Given the description of an element on the screen output the (x, y) to click on. 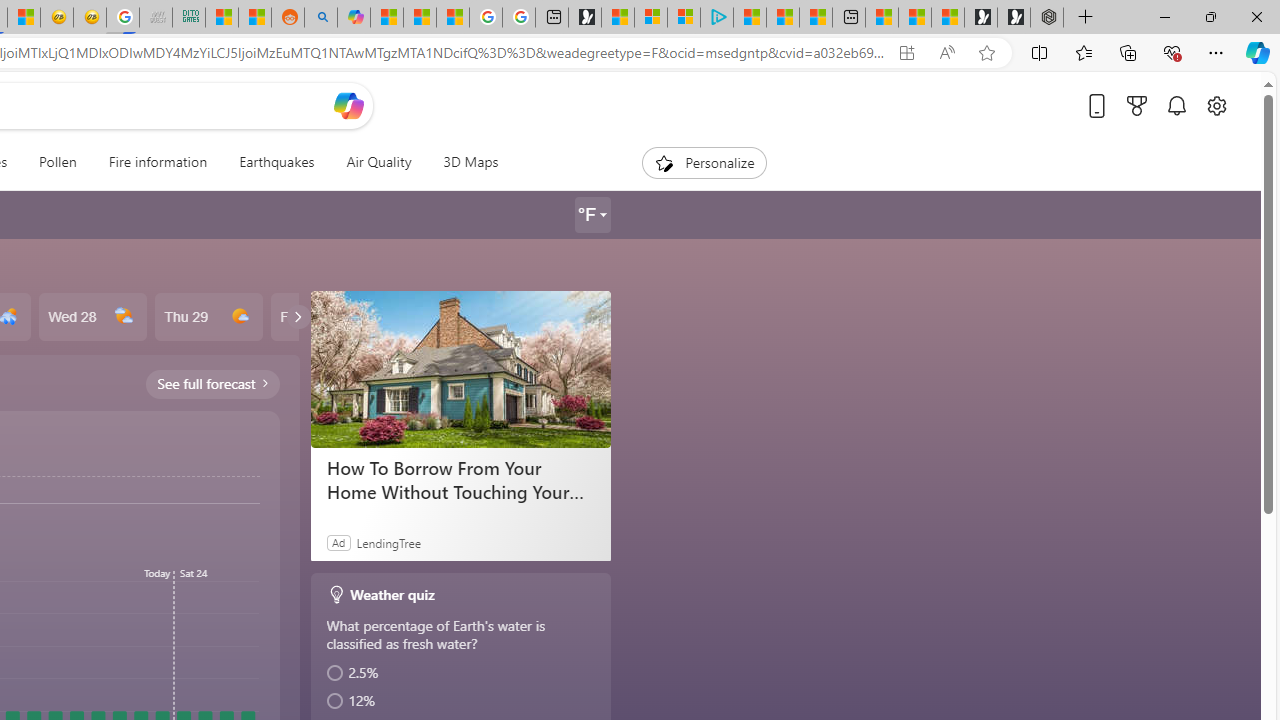
Pollen (58, 162)
App available. Install Microsoft Start Weather (906, 53)
Fri 30 (324, 317)
2.5% (462, 673)
Fri 30 (324, 317)
Fire information (157, 162)
3D Maps (463, 162)
